Given the description of an element on the screen output the (x, y) to click on. 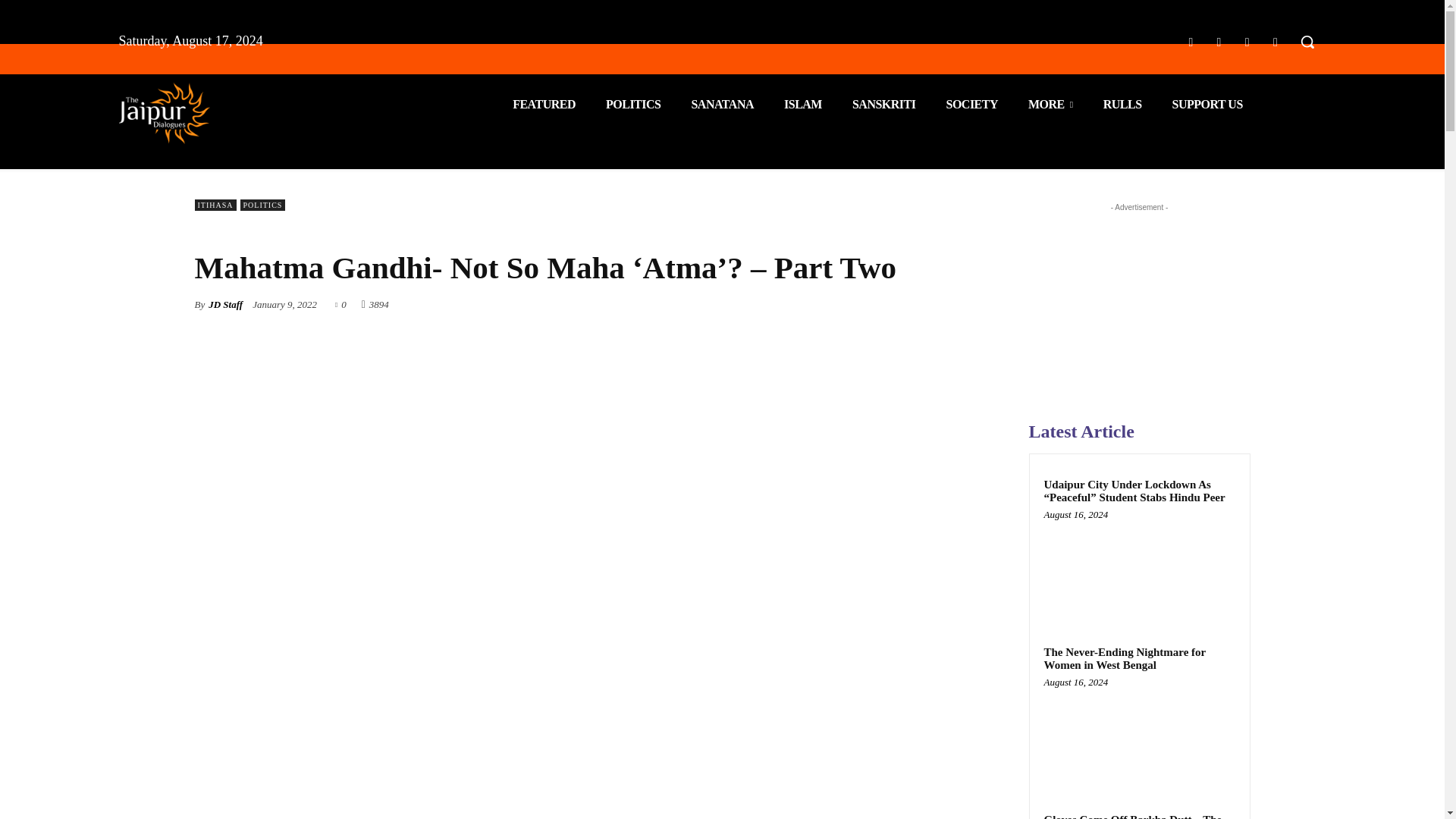
ISLAM (802, 104)
Twitter (1246, 41)
SOCIETY (971, 104)
Youtube (1275, 41)
Instagram (1218, 41)
SANSKRITI (884, 104)
SANATANA (721, 104)
Facebook (1190, 41)
FEATURED (544, 104)
MORE (1050, 104)
